Given the description of an element on the screen output the (x, y) to click on. 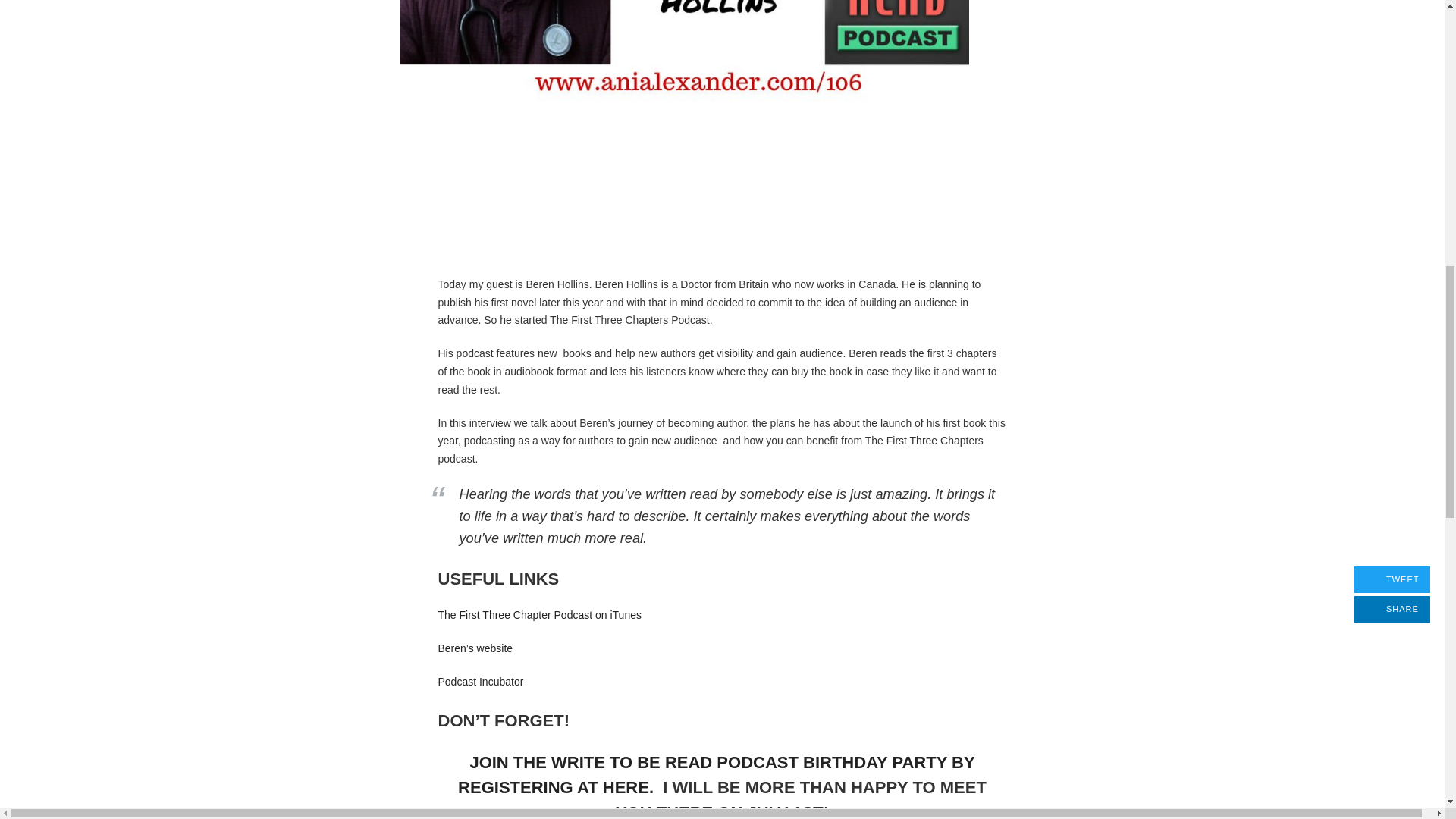
Podcast Incubator (481, 681)
The First Three Chapter Podcast on iTunes (540, 614)
